Given the description of an element on the screen output the (x, y) to click on. 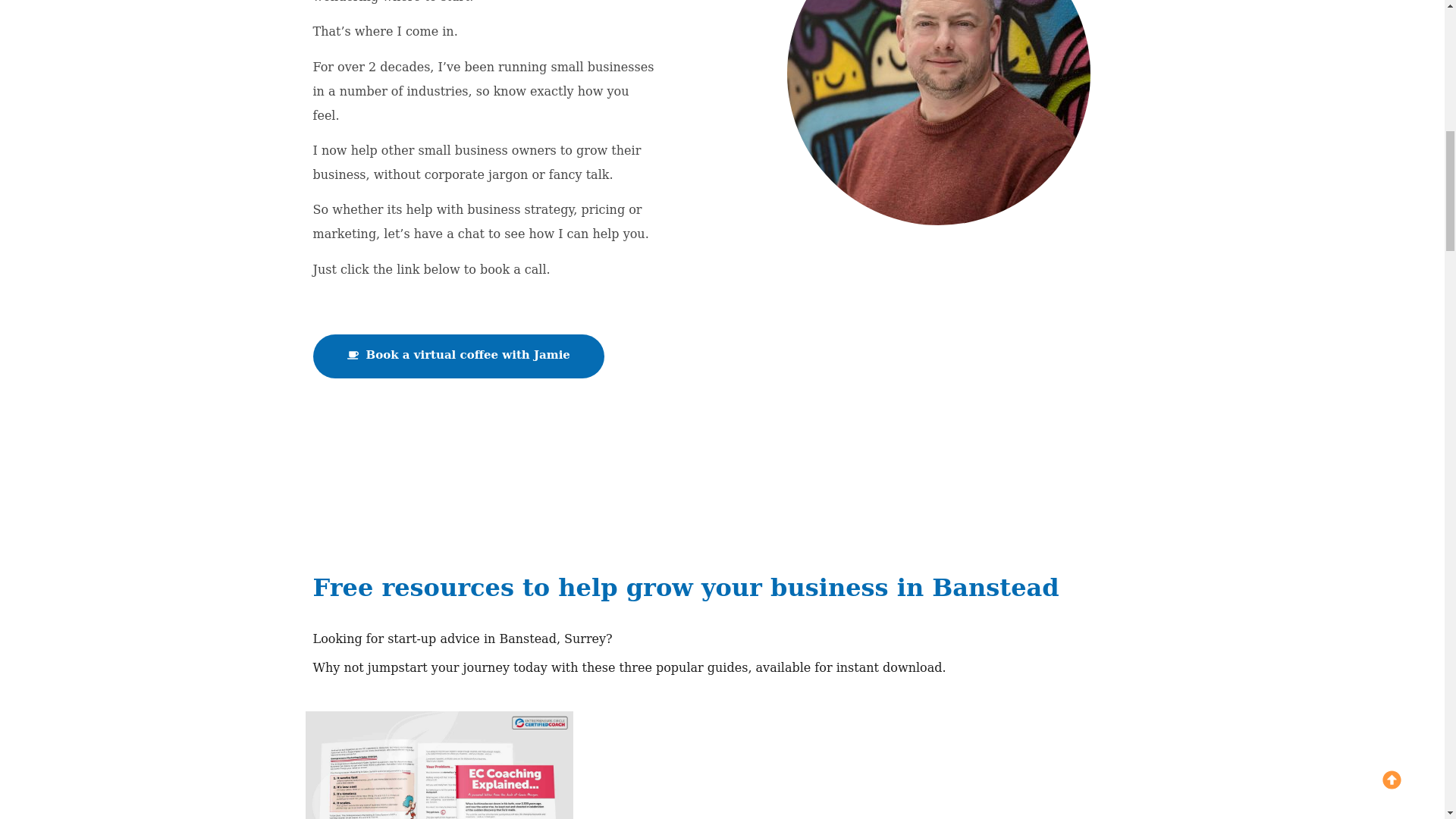
Book a virtual coffee with Jamie (458, 356)
